Given the description of an element on the screen output the (x, y) to click on. 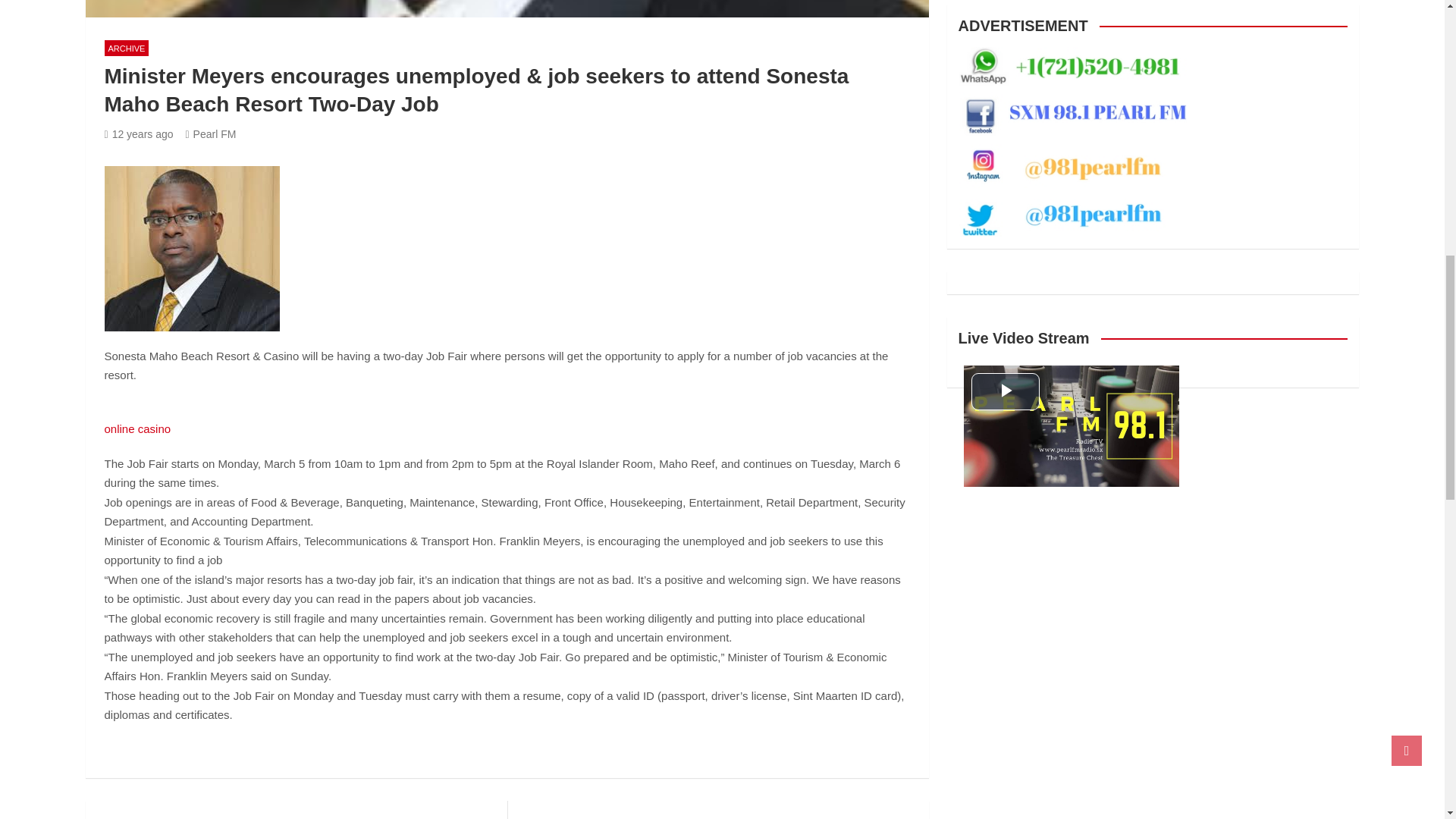
Pearl FM (209, 133)
ARCHIVE (126, 48)
online casino (137, 428)
12 years ago (138, 133)
